Given the description of an element on the screen output the (x, y) to click on. 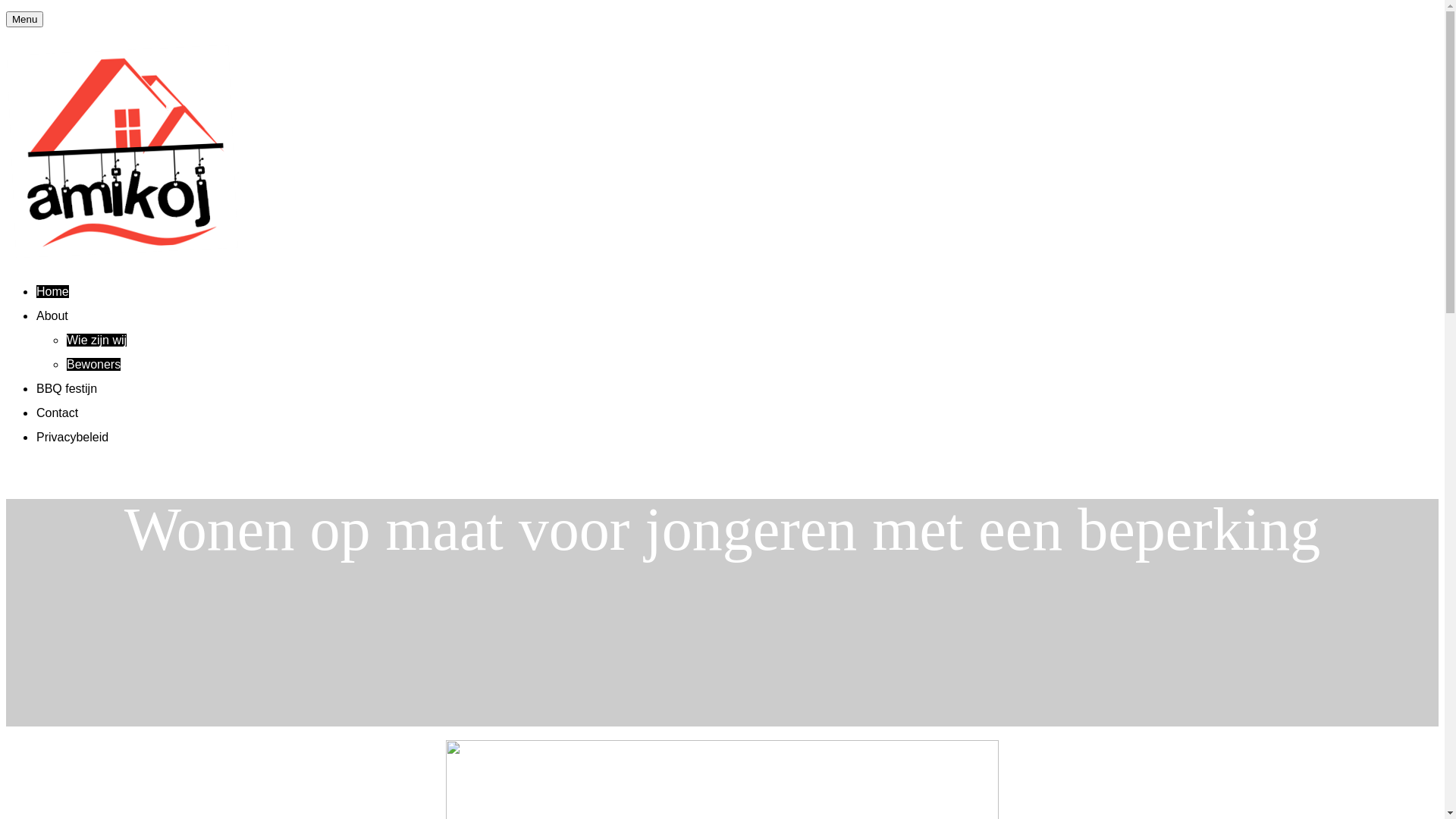
Home Element type: text (52, 291)
About Element type: text (52, 315)
Privacybeleid Element type: text (72, 436)
Wie zijn wij Element type: text (96, 339)
Contact Element type: text (57, 412)
Bewoners Element type: text (93, 363)
BBQ festijn Element type: text (66, 388)
Menu Element type: text (24, 19)
